Given the description of an element on the screen output the (x, y) to click on. 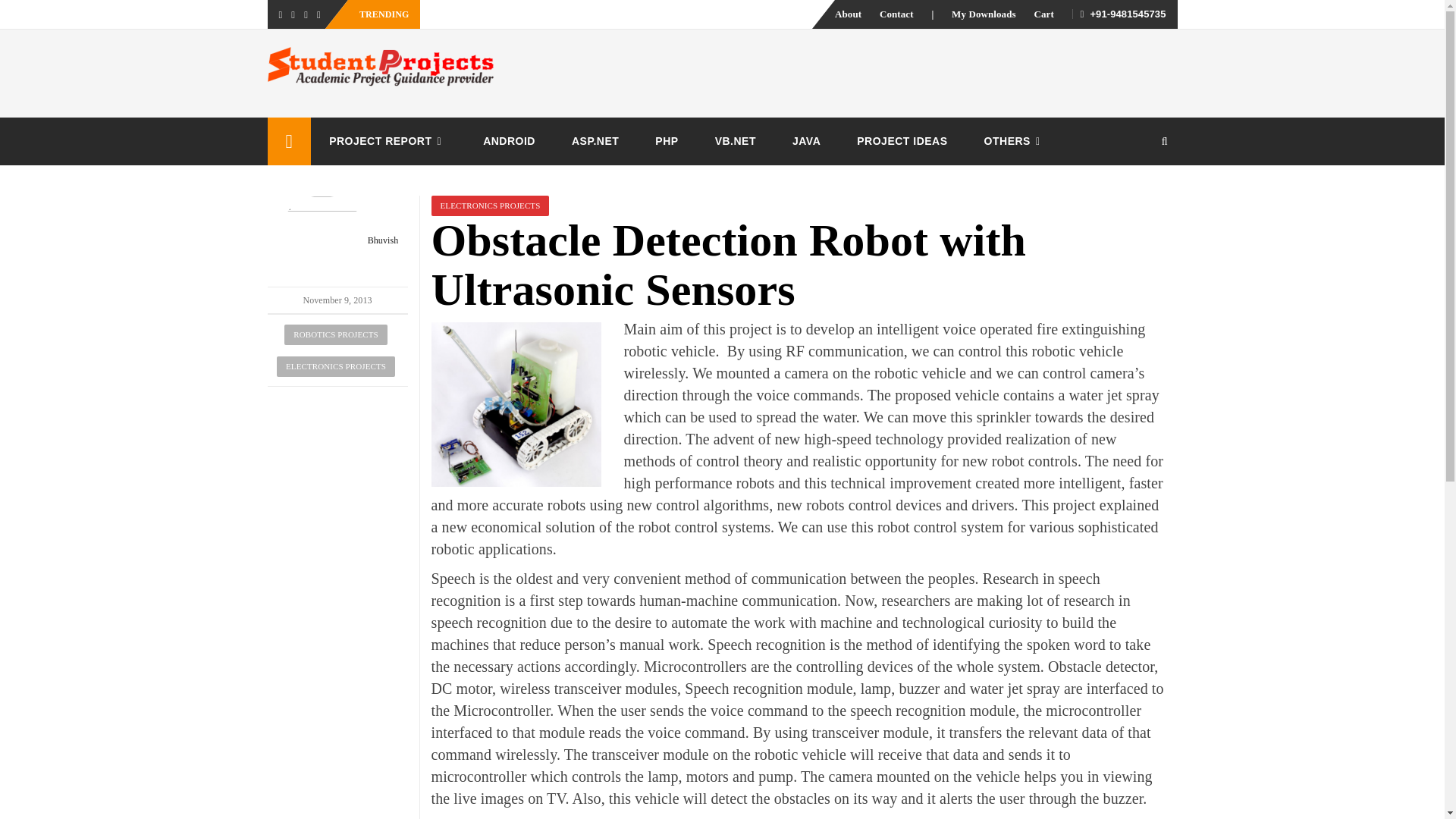
Obstacle Detection Robot with Ultrasonic Sensors (514, 404)
VB.NET (735, 140)
My Downloads (984, 13)
About (847, 13)
PROJECT REPORT (387, 141)
OTHERS (1015, 141)
PHP (666, 140)
ASP.NET (595, 140)
PROJECT IDEAS (901, 140)
